Given the description of an element on the screen output the (x, y) to click on. 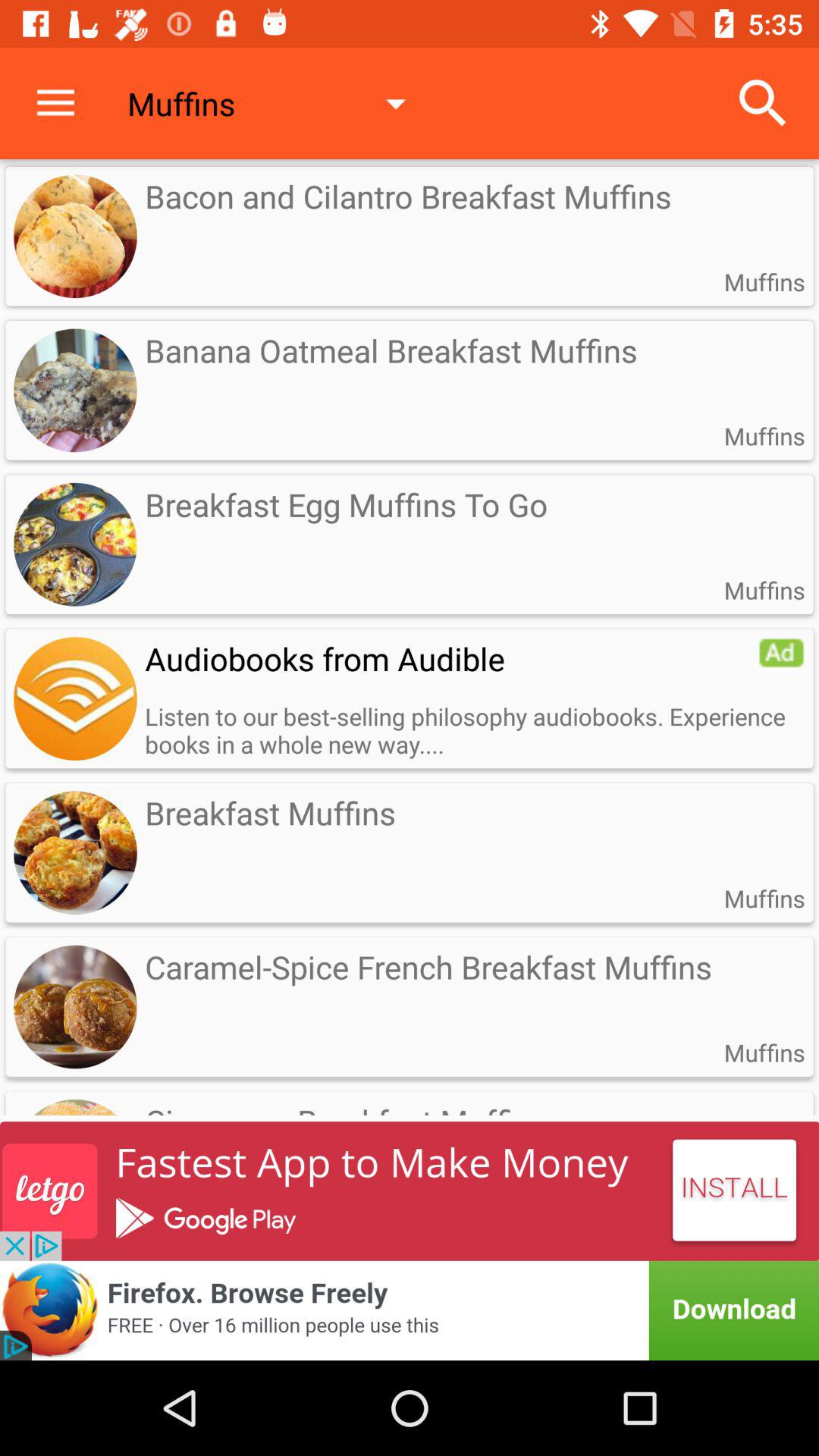
advertising area (409, 1310)
